Given the description of an element on the screen output the (x, y) to click on. 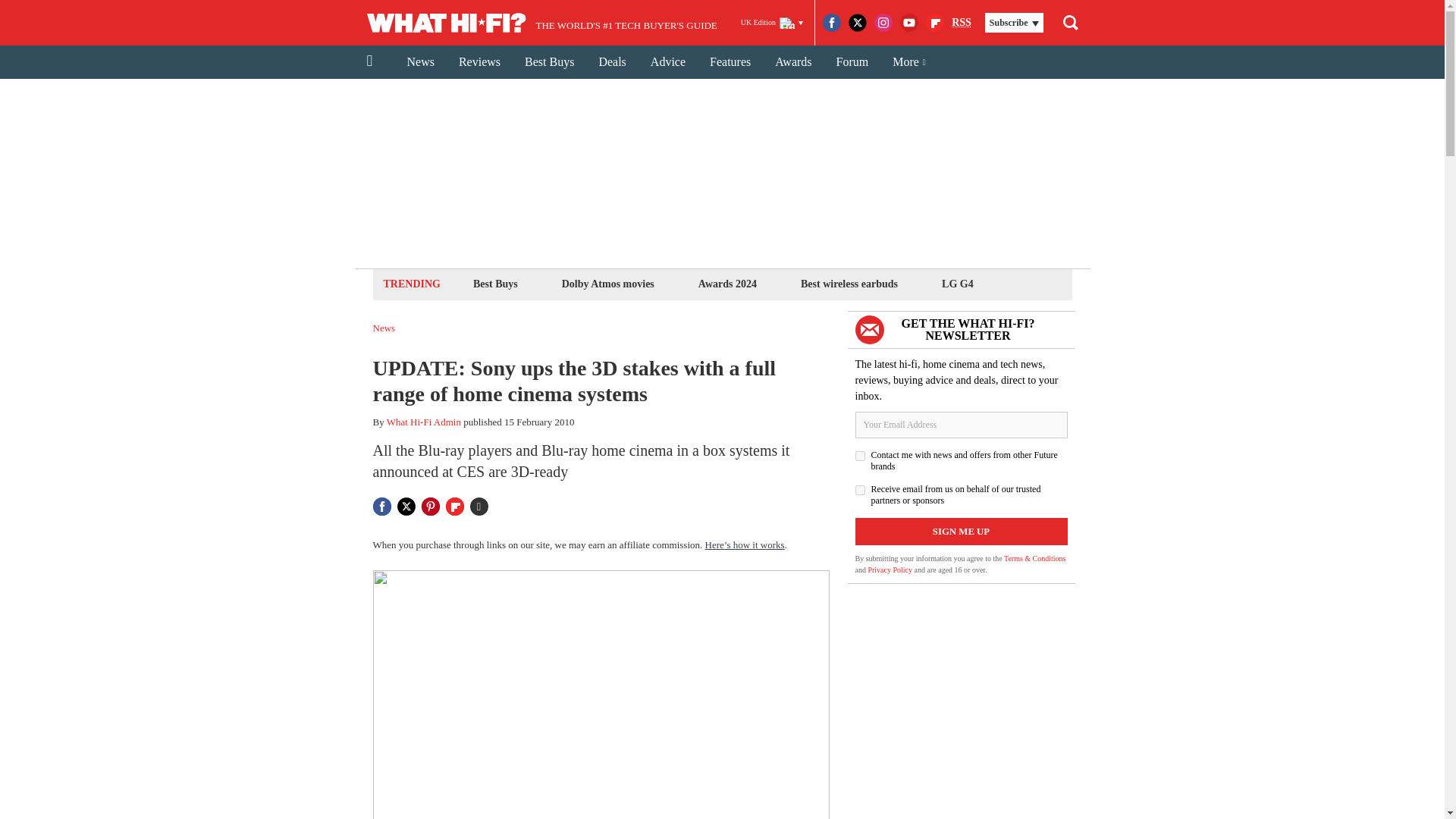
Advice (668, 61)
Reviews (479, 61)
Awards (793, 61)
What Hi-Fi Admin (424, 421)
on (860, 490)
RSS (961, 22)
UK Edition (771, 22)
Really Simple Syndication (961, 21)
Awards 2024 (727, 283)
News (419, 61)
Dolby Atmos movies (607, 283)
on (860, 456)
Best wireless earbuds (848, 283)
Features (729, 61)
LG G4 (957, 283)
